Given the description of an element on the screen output the (x, y) to click on. 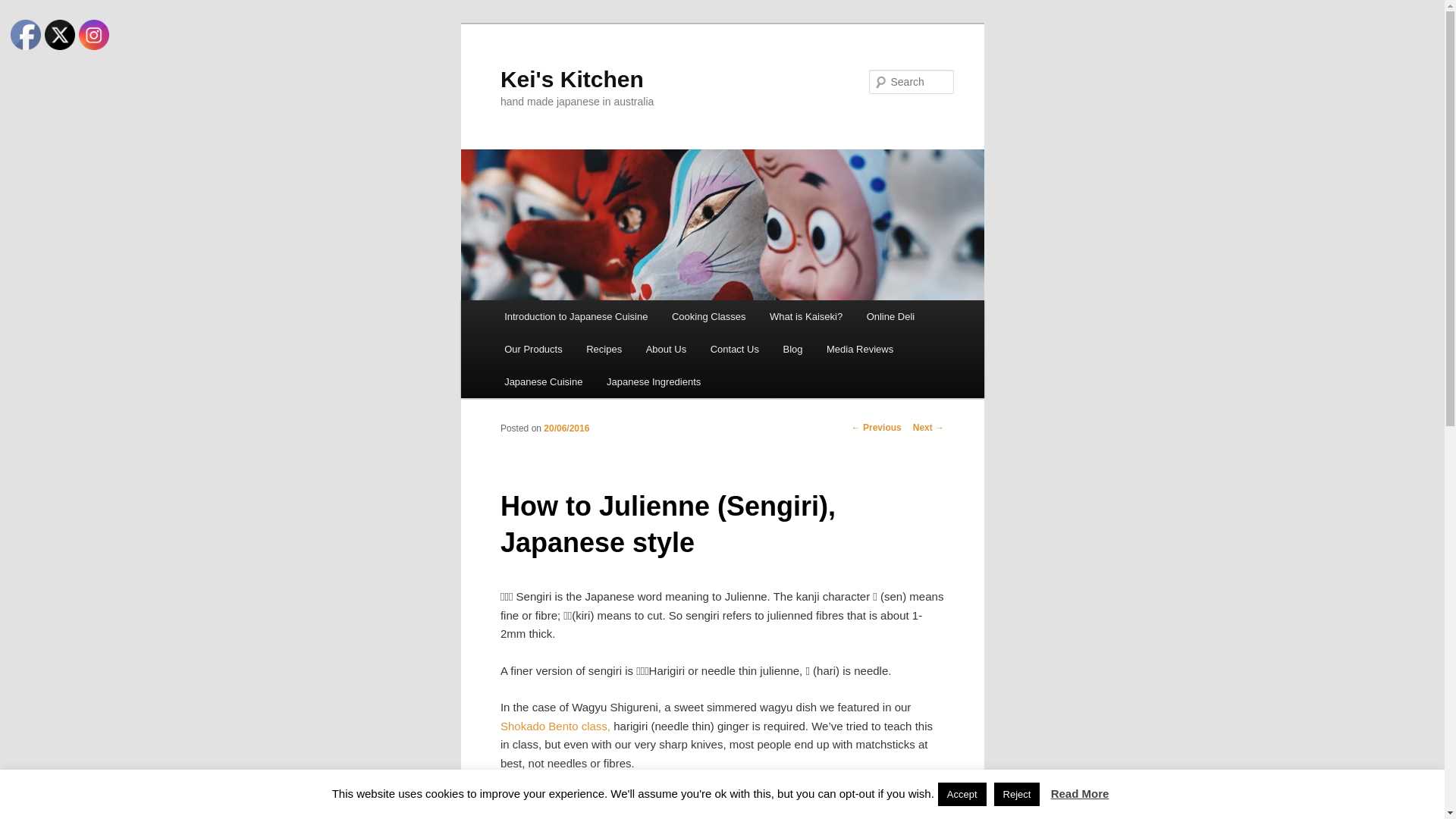
20/06/2016 Element type: text (566, 428)
What is Kaiseki? Element type: text (805, 316)
Japanese Ingredients Element type: text (653, 381)
Introduction to Japanese Cuisine Element type: text (575, 316)
Shokado Bento class, Element type: text (556, 725)
Reject Element type: text (1017, 794)
Our Products Element type: text (533, 348)
Read More Element type: text (1080, 793)
Twitter Element type: hover (59, 34)
Facebook Element type: hover (25, 34)
Japanese Cuisine Element type: text (543, 381)
Online Deli Element type: text (890, 316)
About Us Element type: text (665, 348)
facebook page. Element type: text (894, 799)
Search Element type: text (24, 8)
Cooking Classes Element type: text (708, 316)
Blog Element type: text (793, 348)
Accept Element type: text (962, 794)
Contact Us Element type: text (734, 348)
Media Reviews Element type: text (859, 348)
Skip to primary content Element type: text (0, 22)
Recipes Element type: text (603, 348)
Kei's Kitchen Element type: text (571, 78)
Instagram Element type: hover (93, 34)
